Given the description of an element on the screen output the (x, y) to click on. 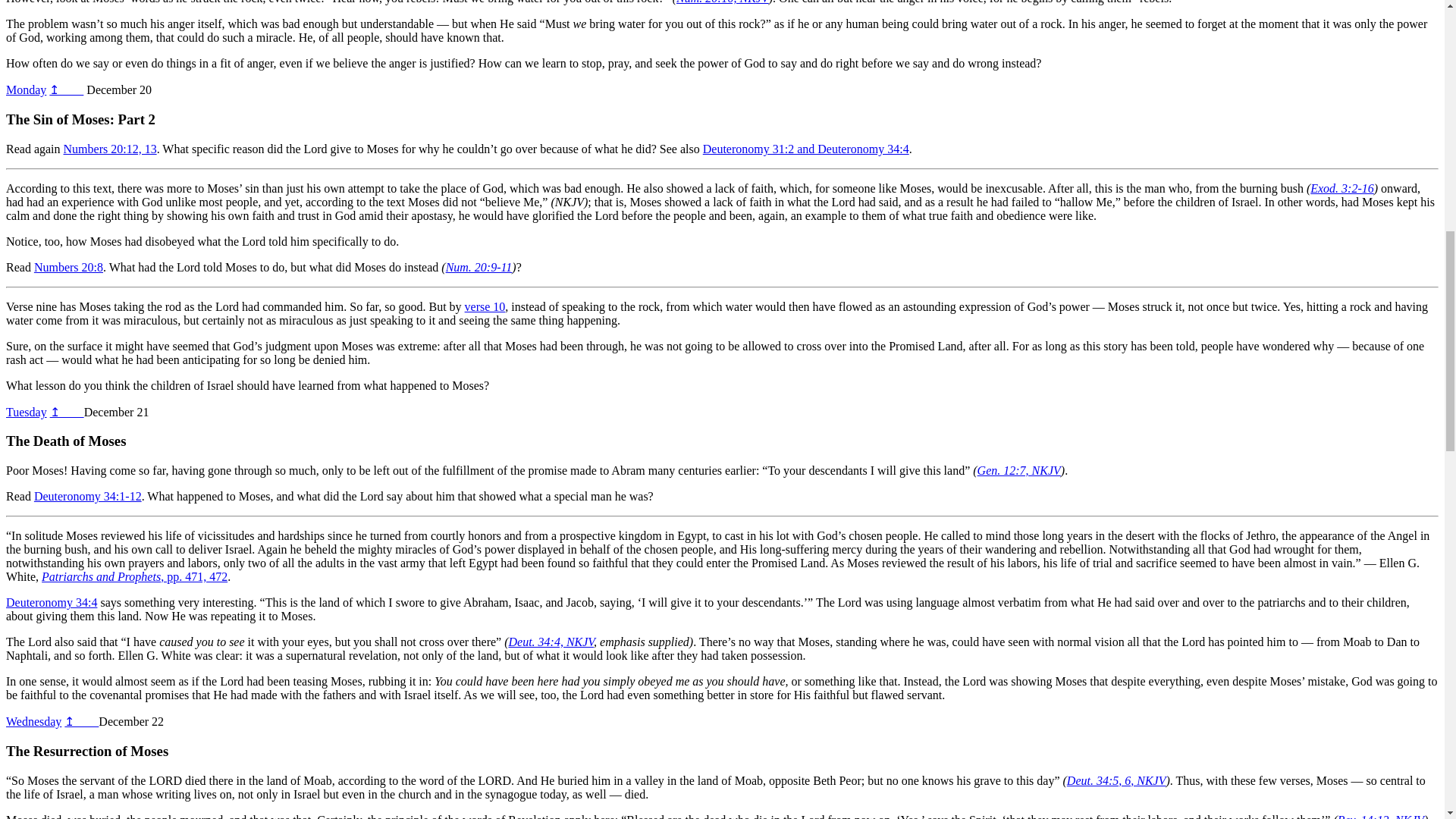
Numbers 20:12, 13 (110, 148)
verse 10 (484, 306)
Go to top of the page (65, 89)
Deut. 34:4, NKJV (551, 641)
Gen. 12:7, NKJV (1018, 470)
Numbers 20:8 (68, 267)
Align Upwards (25, 89)
Deuteronomy 34:4 (51, 602)
Go to top of the page (66, 411)
Deuteronomy 34:1-12 (87, 495)
Exod. 3:2-16 (1342, 187)
Monday (25, 89)
Align Upwards (33, 721)
Go to top of the page (81, 721)
Deuteronomy 31:2 and Deuteronomy 34:4 (805, 148)
